Given the description of an element on the screen output the (x, y) to click on. 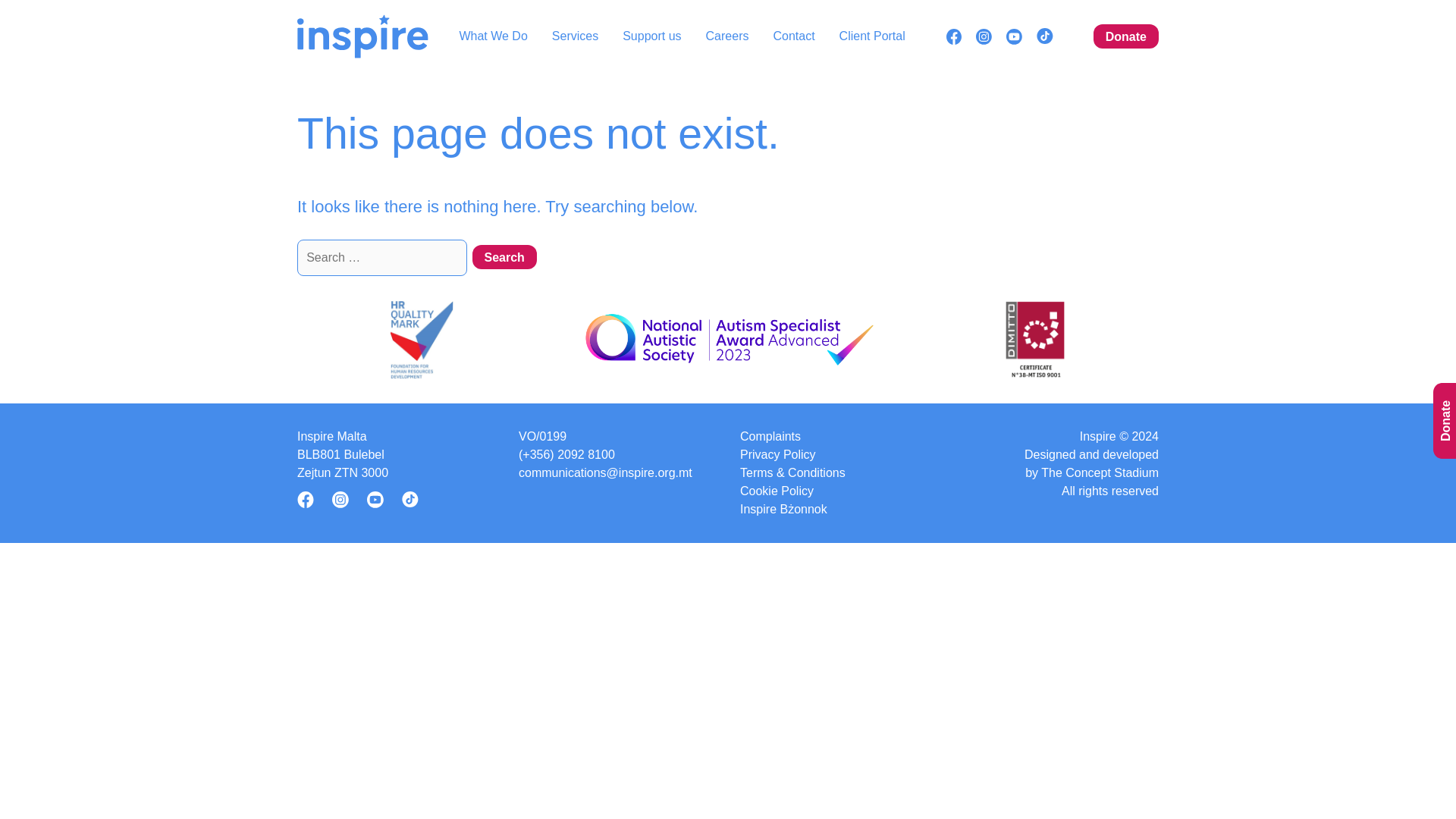
Careers (727, 36)
Search (503, 256)
What We Do (492, 36)
Support us (652, 36)
Complaints (769, 436)
Search (503, 256)
Privacy Policy (777, 454)
Client Portal (872, 36)
Donate (1125, 36)
Search (503, 256)
